Given the description of an element on the screen output the (x, y) to click on. 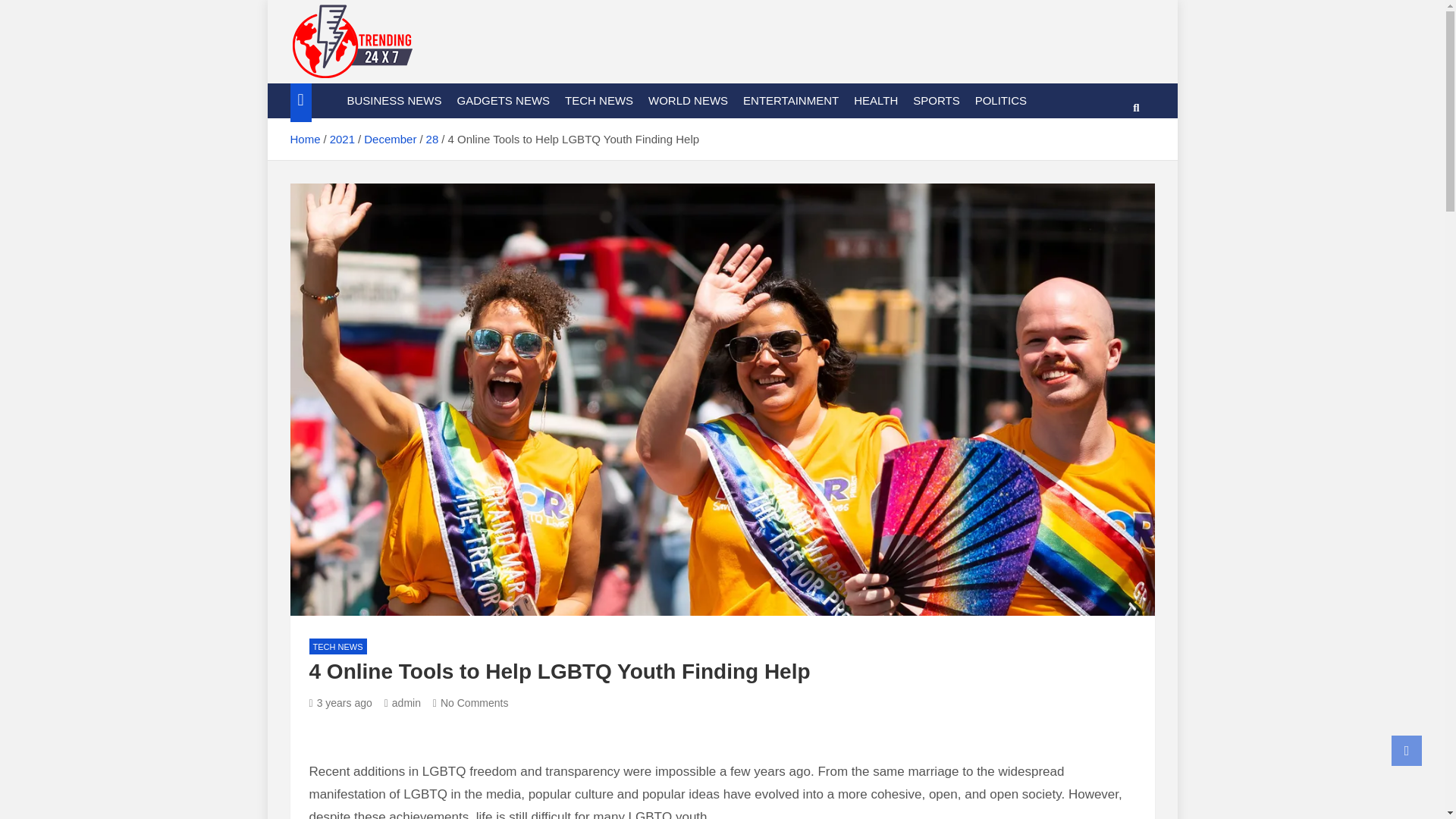
admin (402, 702)
3 years ago (340, 702)
Go to Top (1406, 750)
December (390, 137)
TECH NEWS (598, 100)
4 Online Tools to Help LGBTQ Youth Finding Help (340, 702)
ENTERTAINMENT (790, 100)
BUSINESS NEWS (394, 100)
SPORTS (935, 100)
No Comments (470, 702)
WORLD NEWS (687, 100)
GADGETS NEWS (503, 100)
POLITICS (1000, 100)
Home (304, 137)
